Given the description of an element on the screen output the (x, y) to click on. 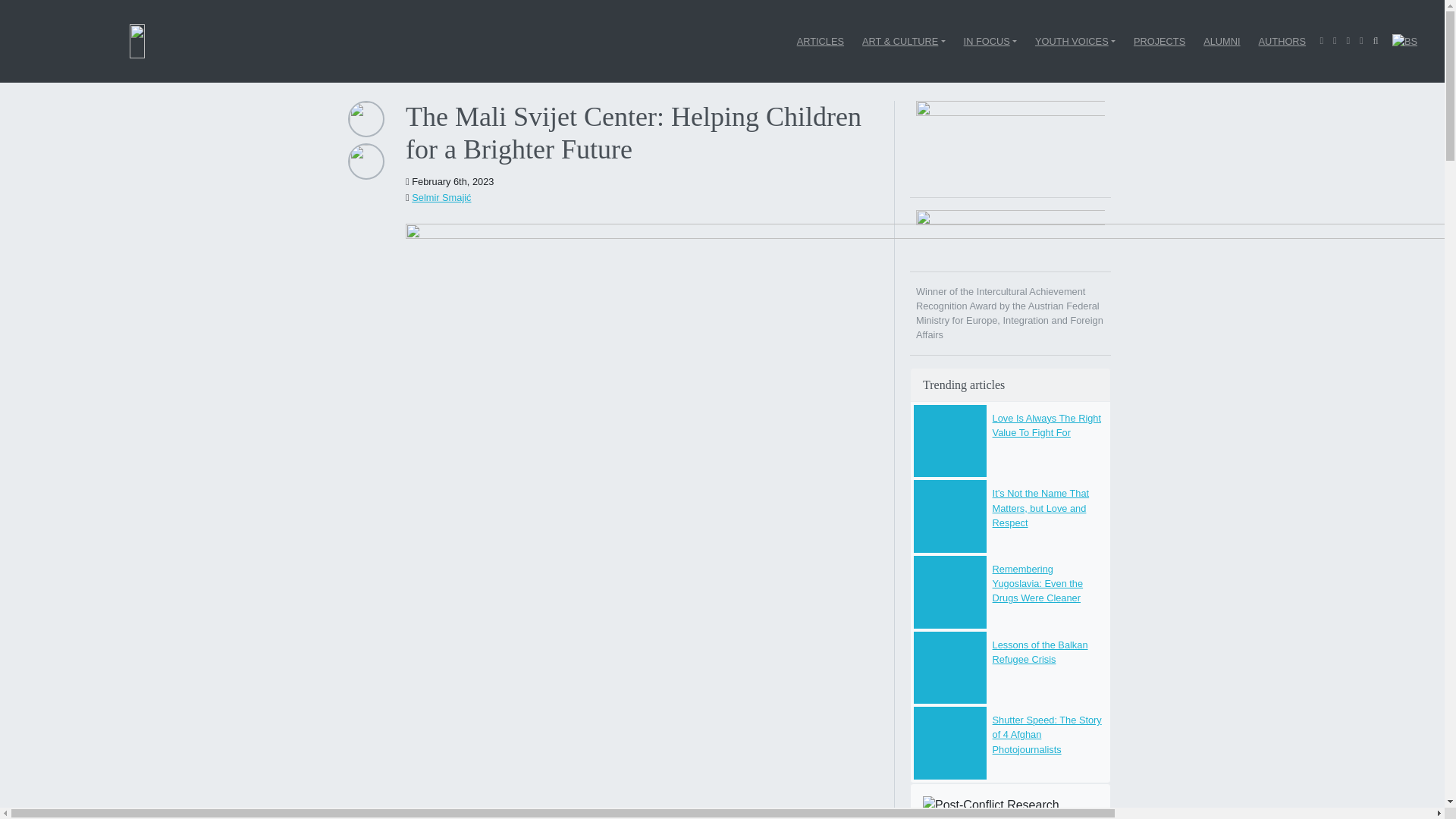
ALUMNI (1221, 40)
PROJECTS (1158, 40)
YOUTH VOICES (1075, 40)
Follow Post-Conflict Research Center! (1010, 807)
IN FOCUS (990, 40)
AUTHORS (1282, 40)
ARTICLES (820, 40)
